Given the description of an element on the screen output the (x, y) to click on. 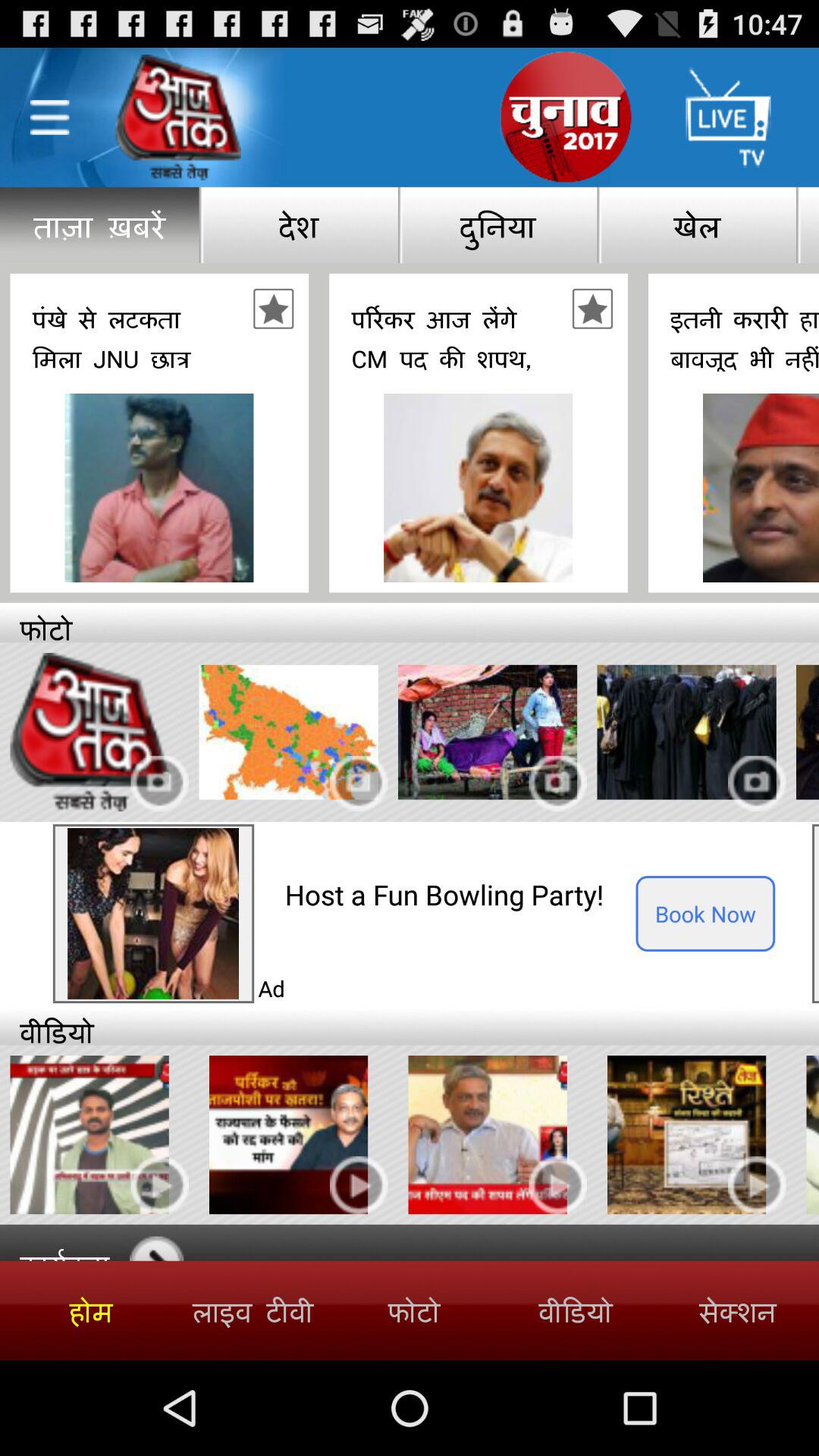
choose the book now icon (705, 913)
